Given the description of an element on the screen output the (x, y) to click on. 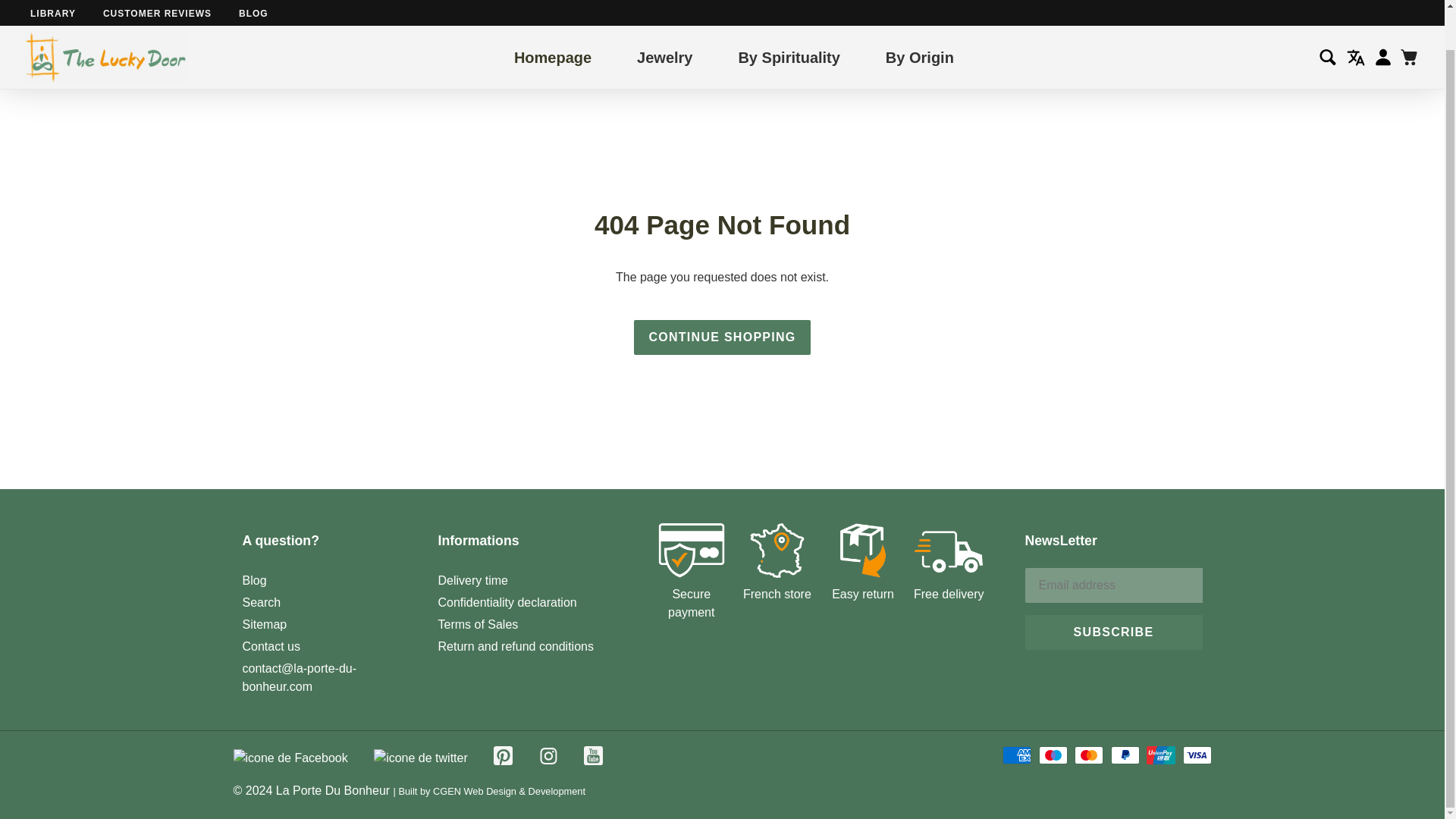
Homepage (552, 17)
American Express (1016, 755)
By Origin (918, 17)
Visa (1196, 755)
PayPal (1125, 755)
Maestro (1053, 755)
Mastercard (1088, 755)
Jewelry (664, 17)
By Spirituality (788, 17)
Union Pay (1160, 755)
Homepage (552, 17)
